Given the description of an element on the screen output the (x, y) to click on. 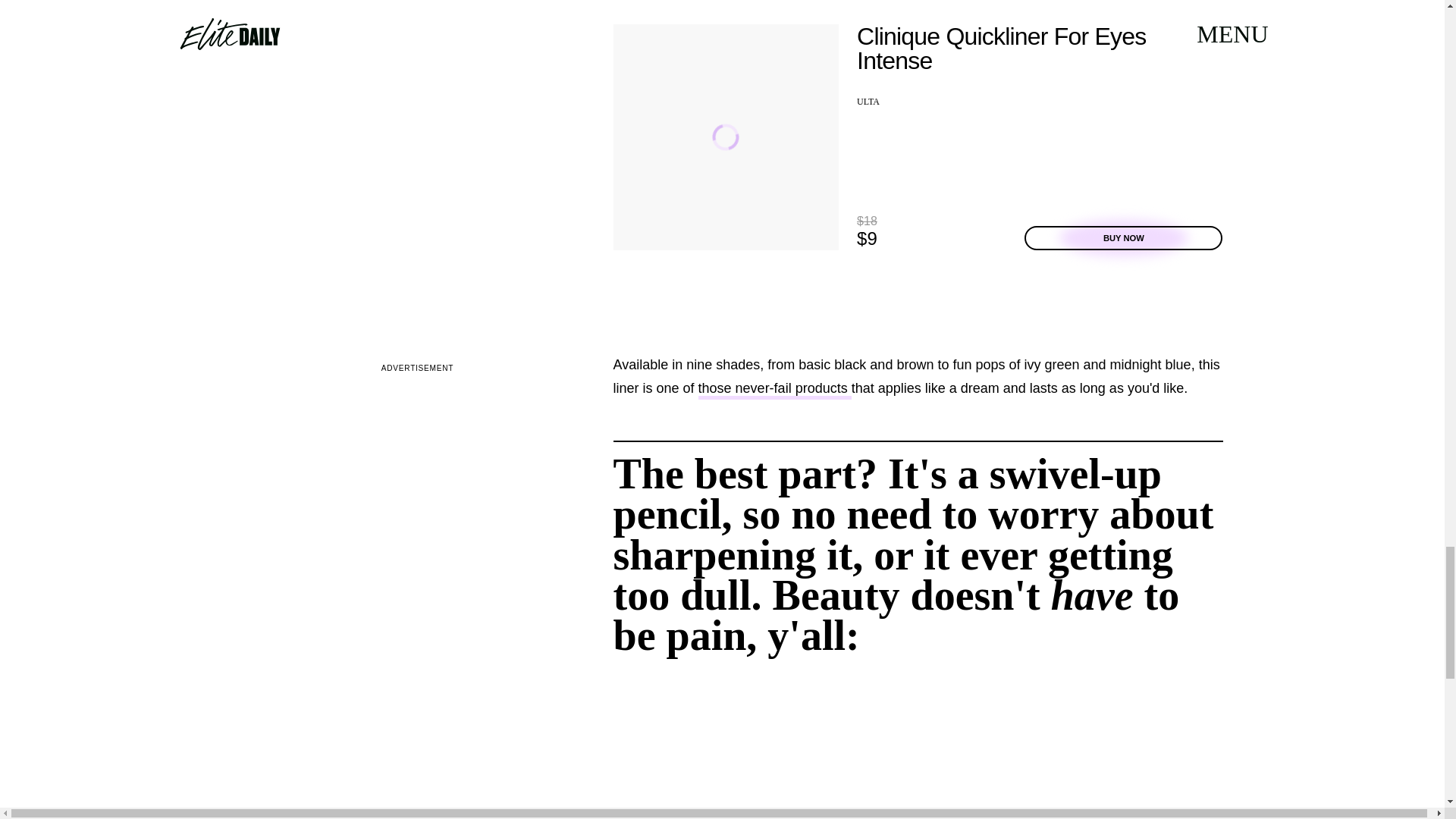
BUY NOW (1124, 238)
those never-fail products (774, 389)
